Given the description of an element on the screen output the (x, y) to click on. 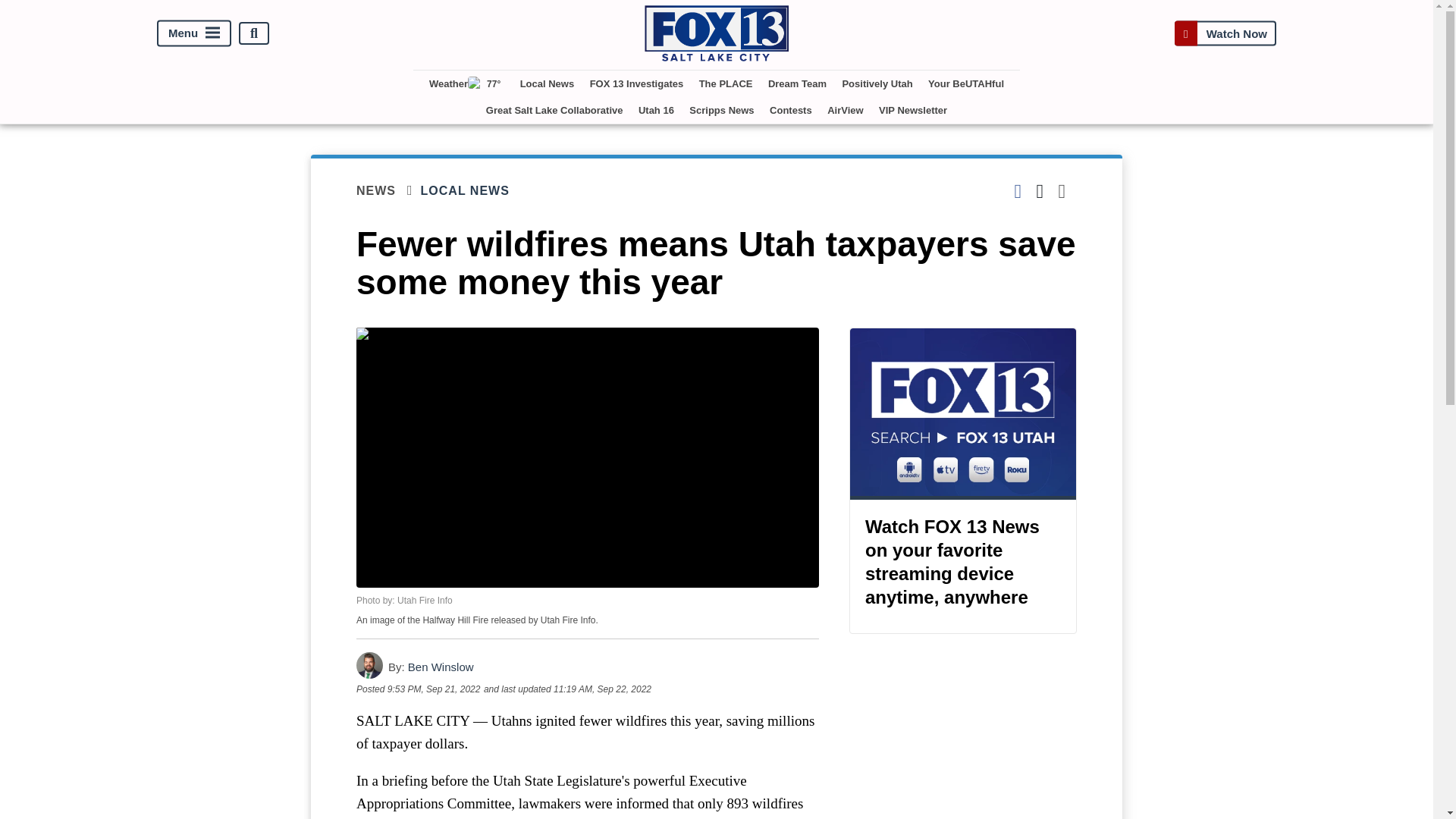
Watch Now (1224, 33)
Menu (194, 33)
